Given the description of an element on the screen output the (x, y) to click on. 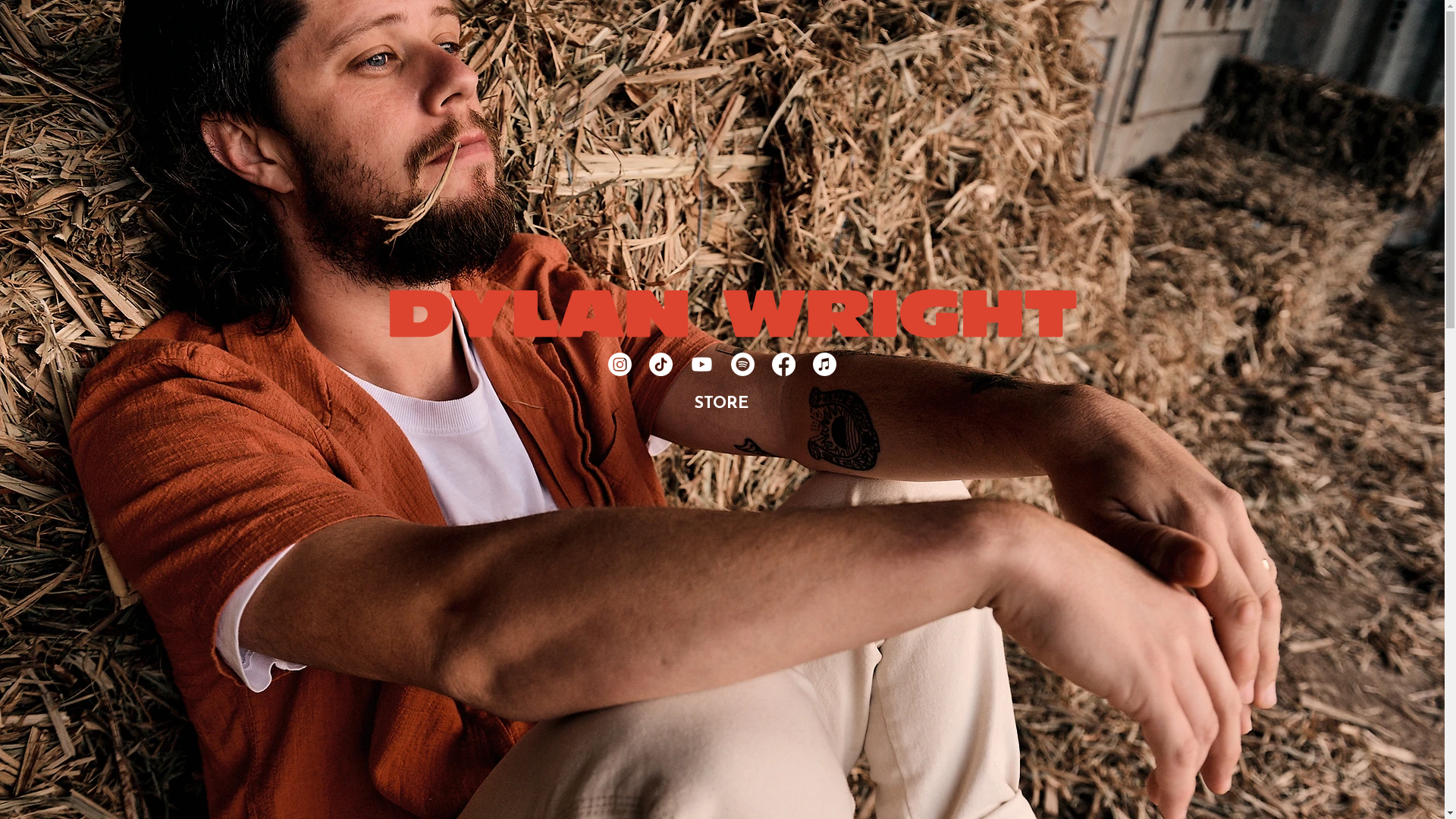
STORE Element type: text (721, 403)
